Given the description of an element on the screen output the (x, y) to click on. 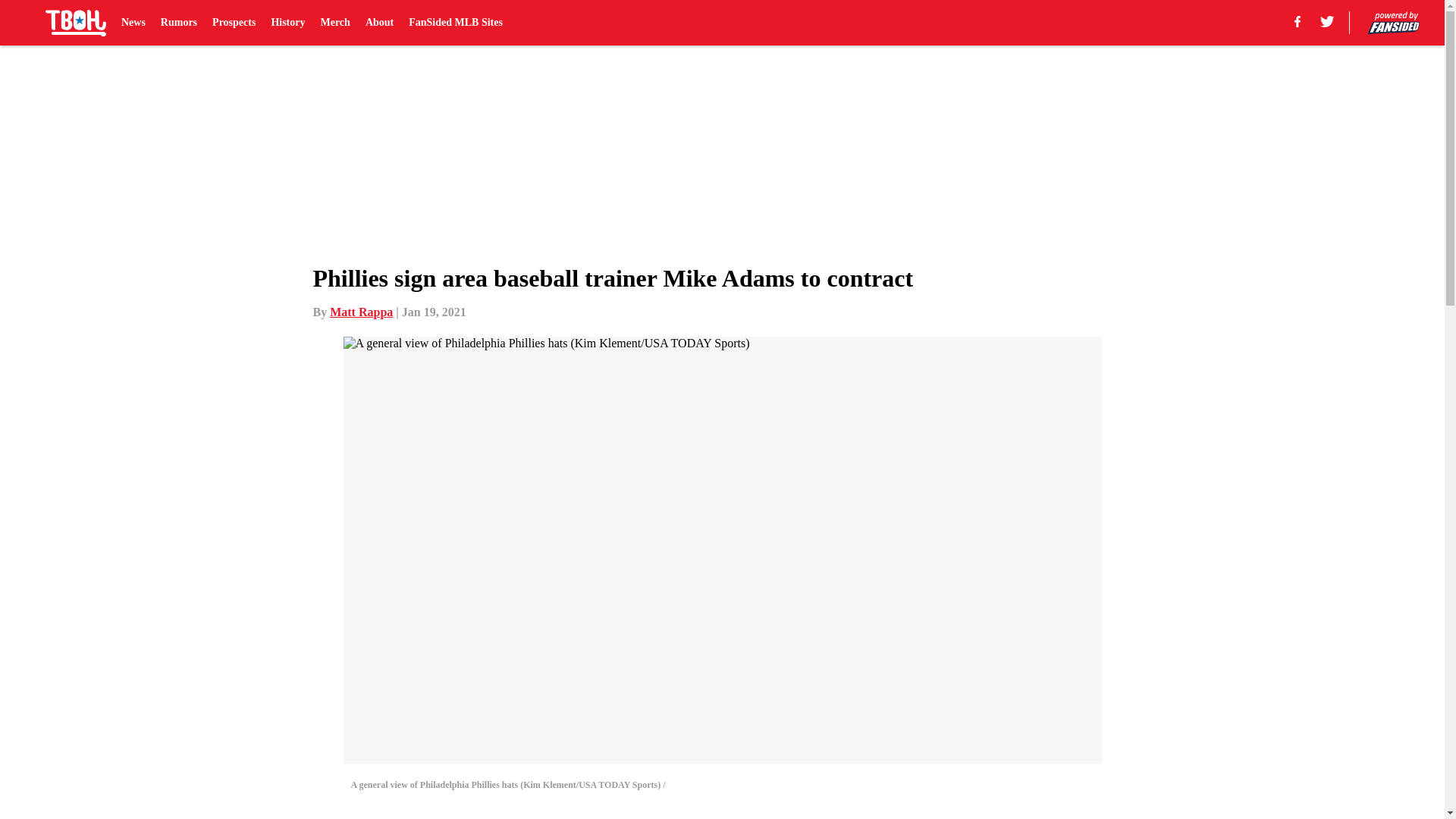
FanSided MLB Sites (455, 22)
Merch (334, 22)
Rumors (178, 22)
Prospects (234, 22)
History (287, 22)
Matt Rappa (361, 311)
About (379, 22)
News (132, 22)
